Given the description of an element on the screen output the (x, y) to click on. 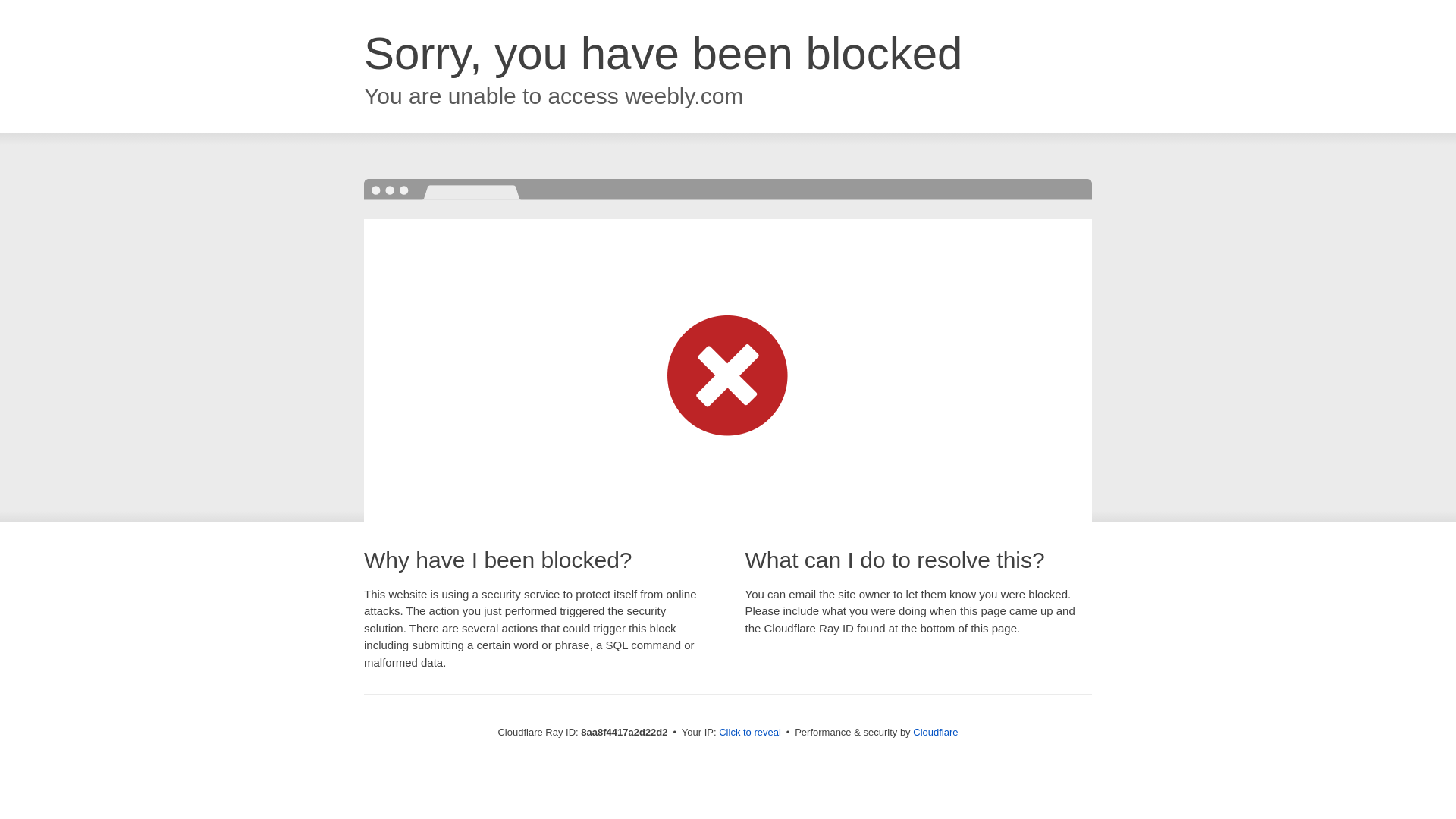
Click to reveal (749, 732)
Cloudflare (935, 731)
